Given the description of an element on the screen output the (x, y) to click on. 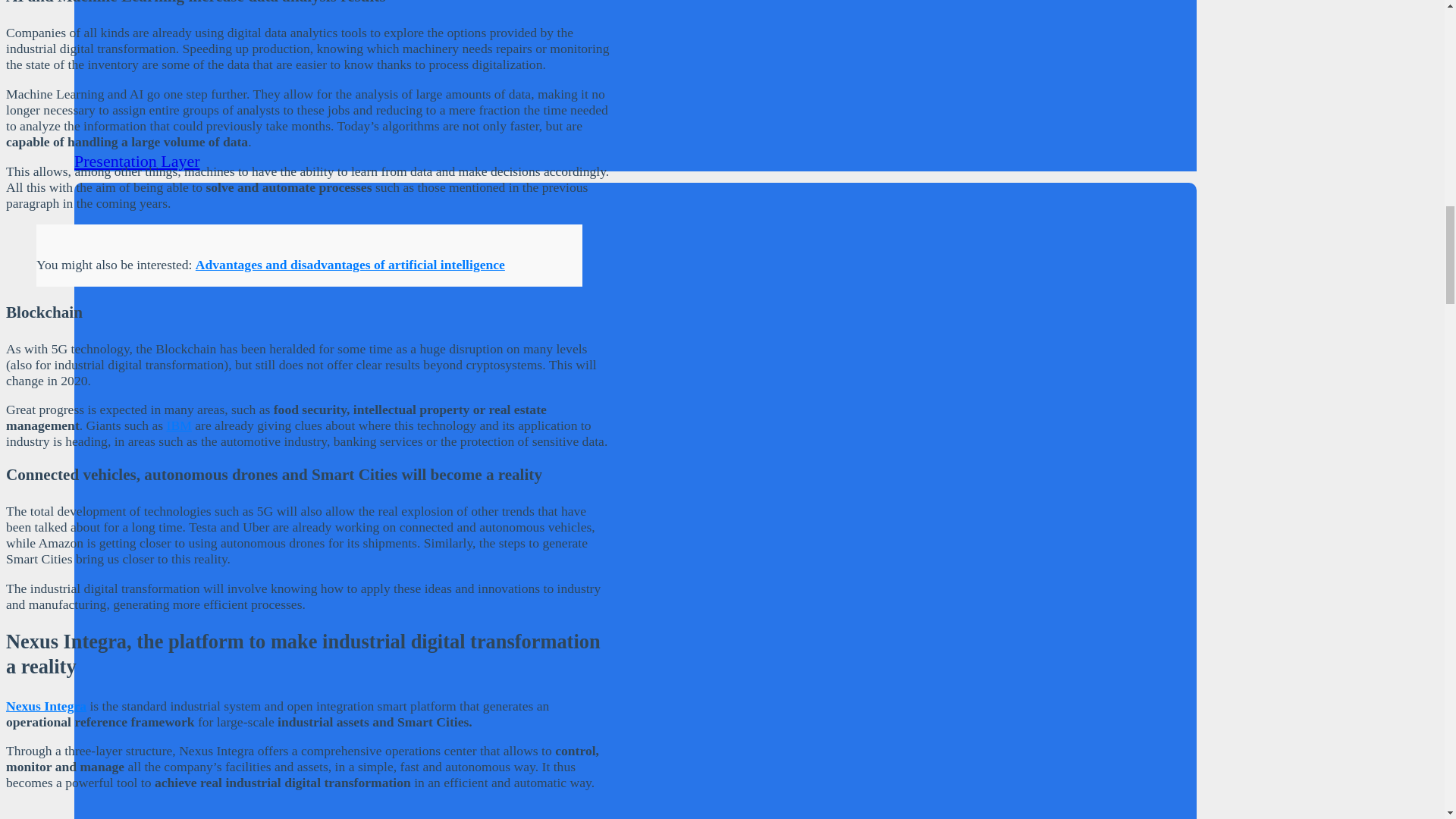
Nexus Integra (45, 705)
Presentation Layer (137, 160)
Advantages and disadvantages of artificial intelligence (350, 264)
IBM (179, 425)
